Given the description of an element on the screen output the (x, y) to click on. 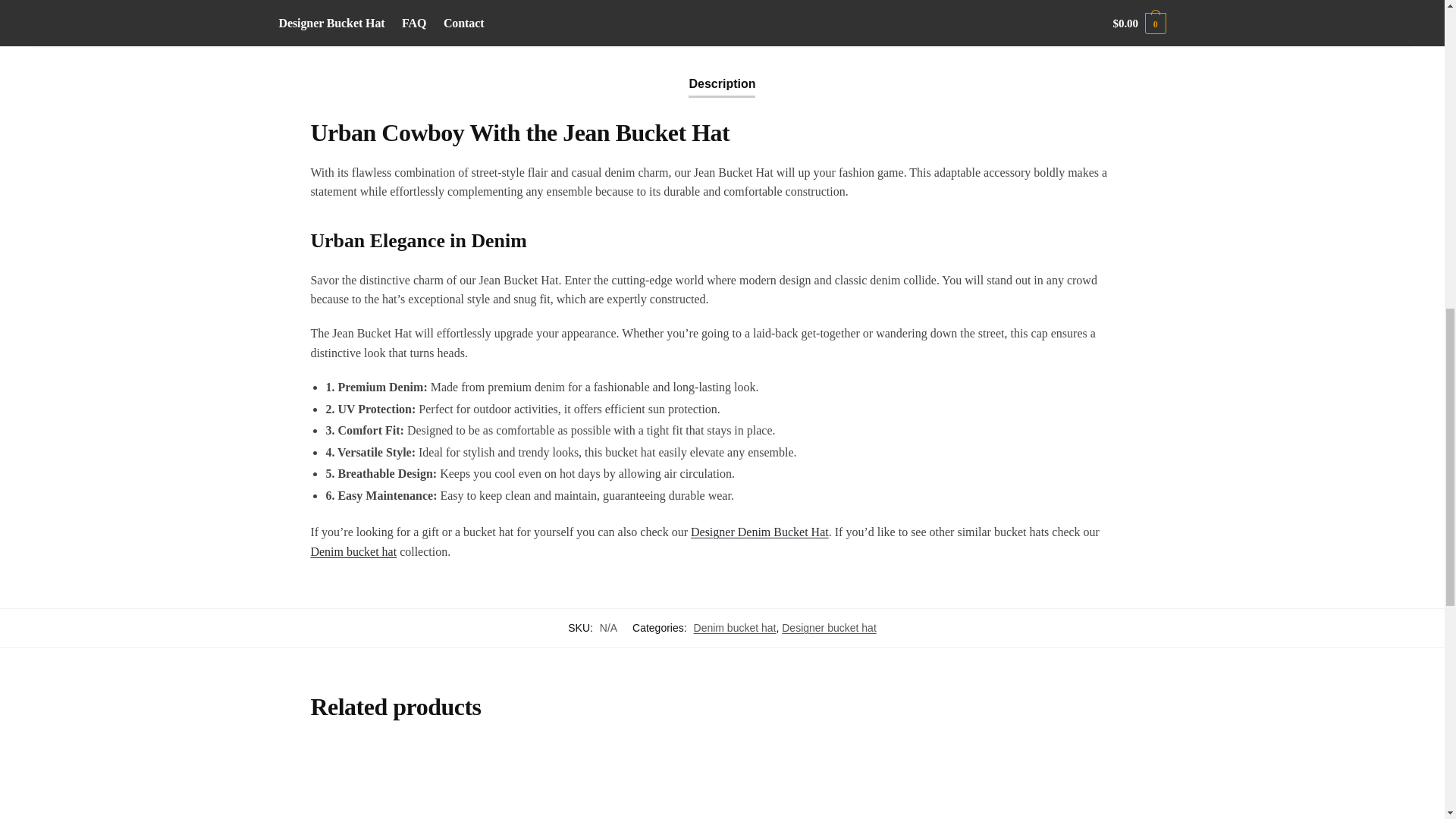
Designer bucket hat (828, 627)
Dark Blue Denim Bucket Hat (404, 782)
Denim bucket hat (353, 551)
Denim Bucket Hat Pattern (615, 782)
Designer Denim Bucket Hat (759, 531)
Description (721, 71)
Denim bucket hat (735, 627)
Black Denim Bucket Hat (828, 782)
